Given the description of an element on the screen output the (x, y) to click on. 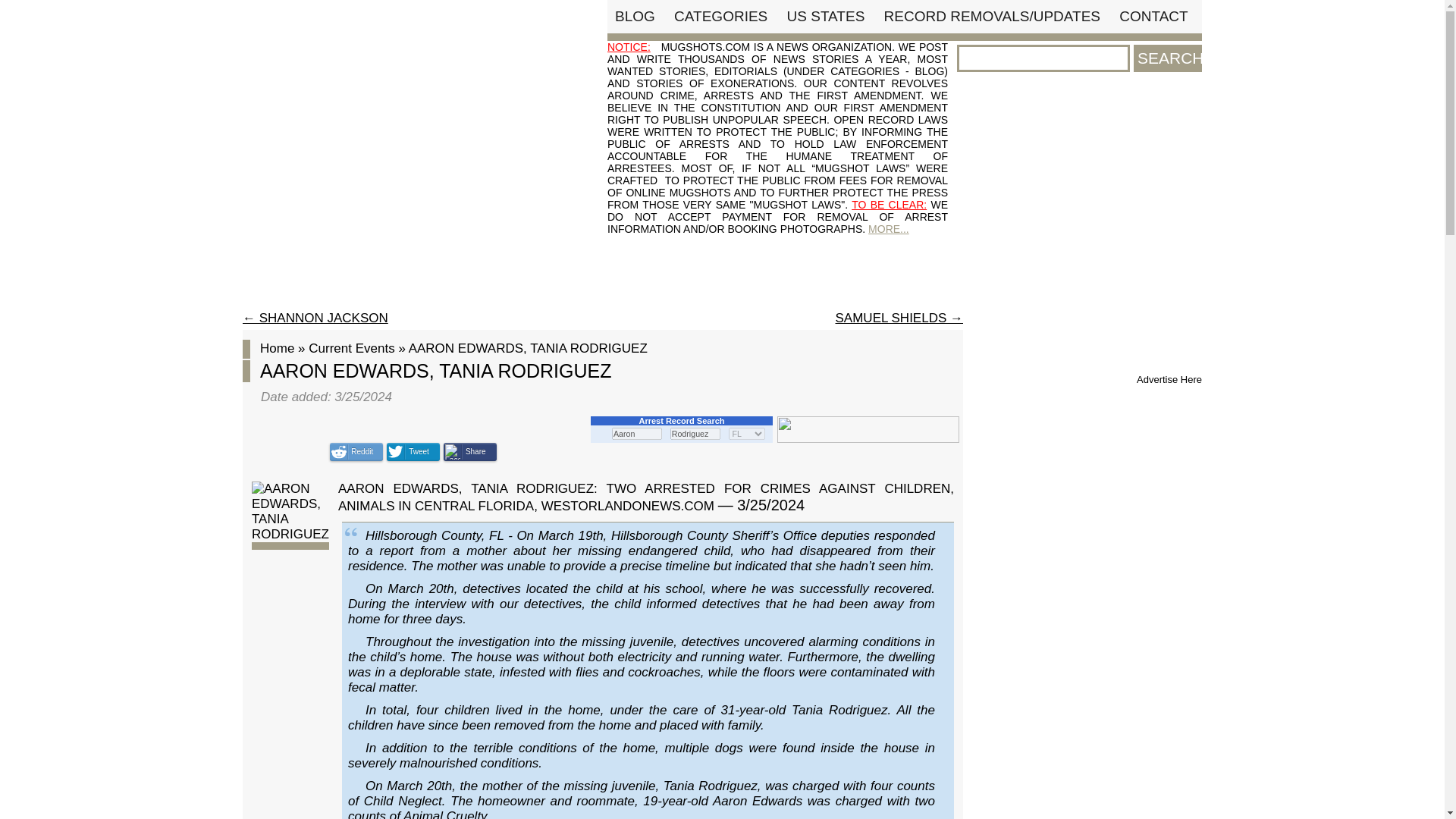
Aaron (636, 433)
Share (470, 452)
CONTACT (1153, 16)
Current Events (351, 348)
Click to view SAMUEL SHIELDS  Mugshot or Arrest Information (898, 318)
Rodriguez (694, 433)
BLOG (634, 16)
SEARCH (1168, 58)
Tweet (413, 452)
Advertise Here (1169, 378)
CATEGORIES (720, 16)
Click to view SHANNON JACKSON Mugshot or Arrest Information (315, 318)
US STATES (825, 16)
Reddit (356, 452)
MORE... (887, 228)
